Given the description of an element on the screen output the (x, y) to click on. 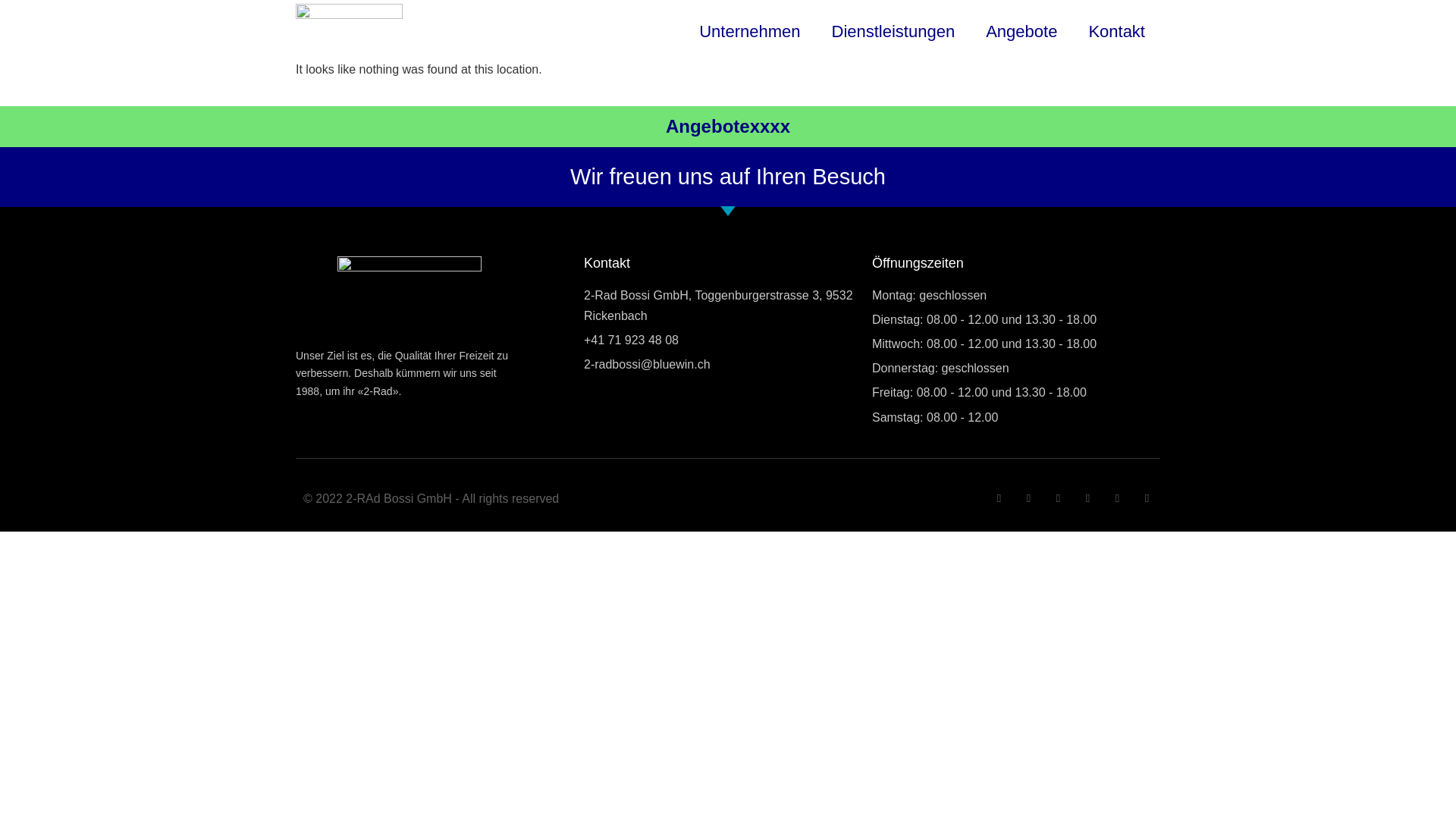
Unternehmen Element type: text (749, 31)
Angebote Element type: text (1021, 31)
+41 71 923 48 08 Element type: text (727, 339)
2-radbossi@bluewin.ch Element type: text (727, 364)
Angebotexxxx Element type: text (727, 126)
Kontakt Element type: text (1116, 31)
Dienstleistungen Element type: text (892, 31)
